Given the description of an element on the screen output the (x, y) to click on. 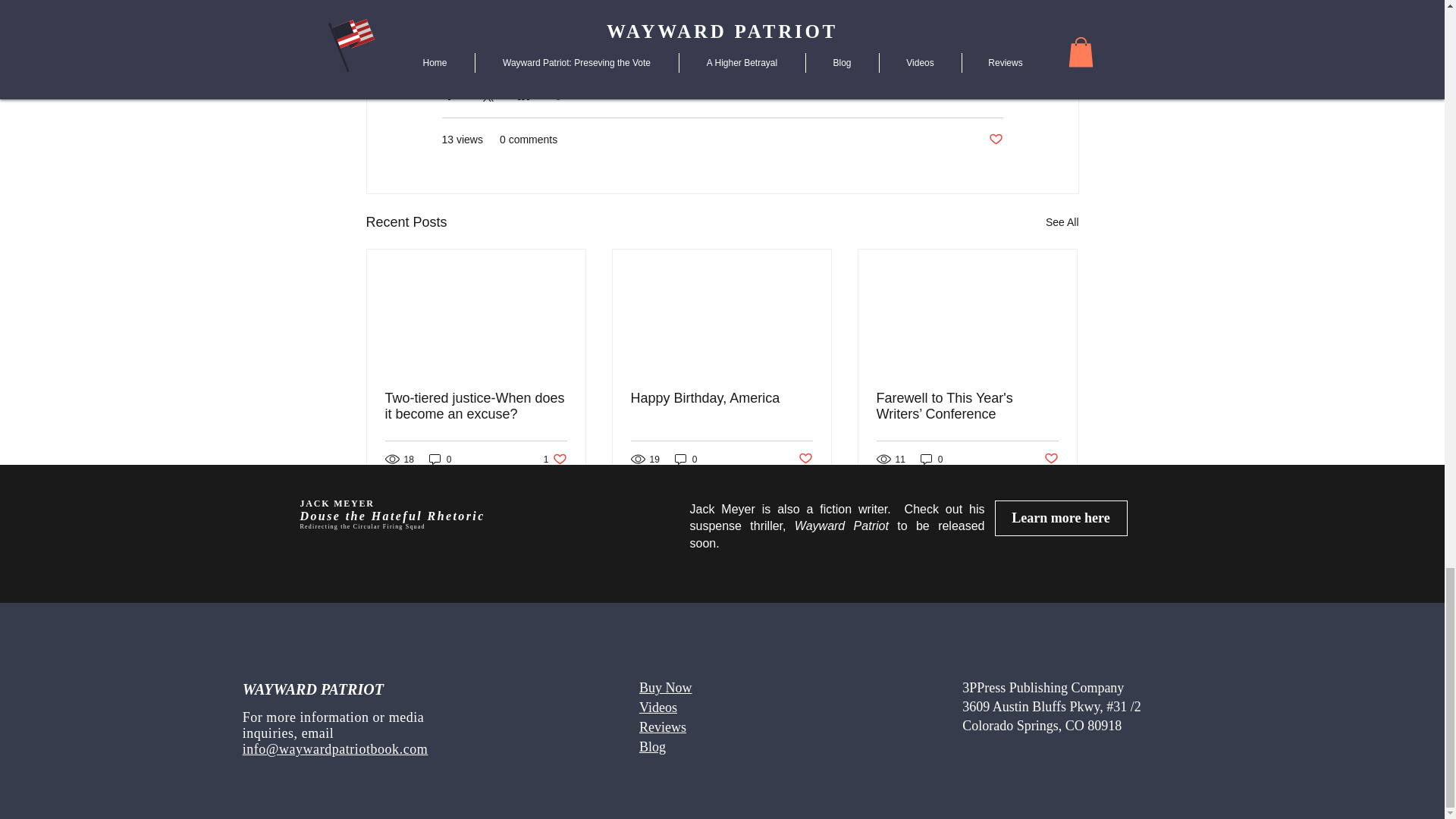
0 (685, 459)
Post not marked as liked (1050, 458)
Happy Birthday, America (721, 398)
Learn more here (1060, 518)
0 (931, 459)
0 (440, 459)
Post not marked as liked (804, 458)
Post not marked as liked (995, 139)
Douse the Hateful Rhetoric (391, 515)
JACK MEYER (336, 502)
